Given the description of an element on the screen output the (x, y) to click on. 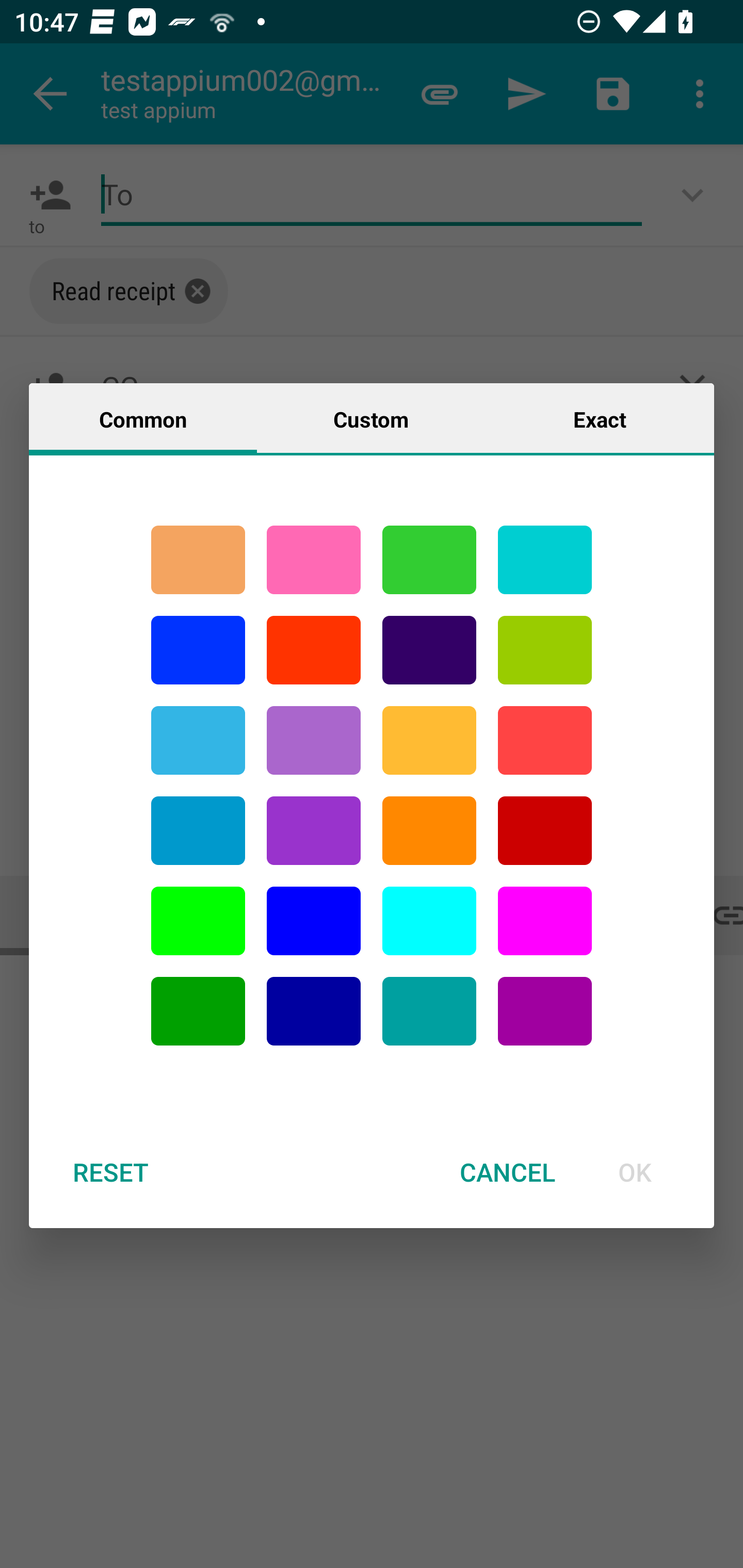
Common (142, 418)
Custom (371, 418)
Exact (599, 418)
Peach (197, 559)
Pink (313, 559)
Green (429, 559)
Cyan (544, 559)
Blue (197, 649)
Red (313, 649)
Dark purple (429, 649)
Light green (544, 649)
Cyan (197, 739)
Purple (313, 739)
Light orange (429, 739)
Light red (544, 739)
Dark cyan (197, 830)
Purple (313, 830)
Orange (429, 830)
Dark red (544, 830)
Light green (197, 920)
Blue (313, 920)
Light cyan (429, 920)
Light purple (544, 920)
Dark green (197, 1010)
Dark blue (313, 1010)
Cyan (429, 1010)
Purple (544, 1010)
RESET (110, 1171)
CANCEL (507, 1171)
OK (634, 1171)
